Given the description of an element on the screen output the (x, y) to click on. 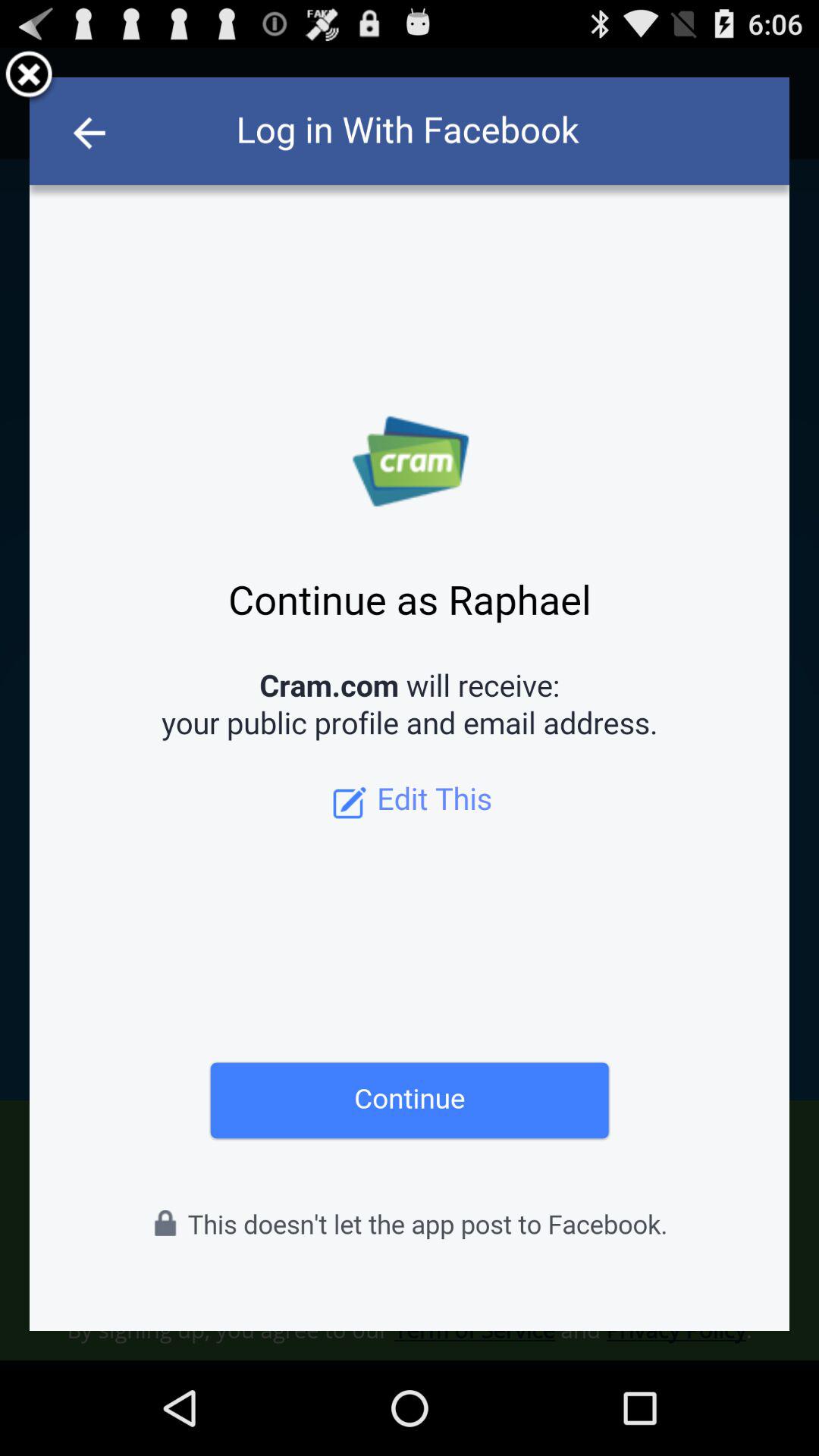
go to close option (29, 76)
